Given the description of an element on the screen output the (x, y) to click on. 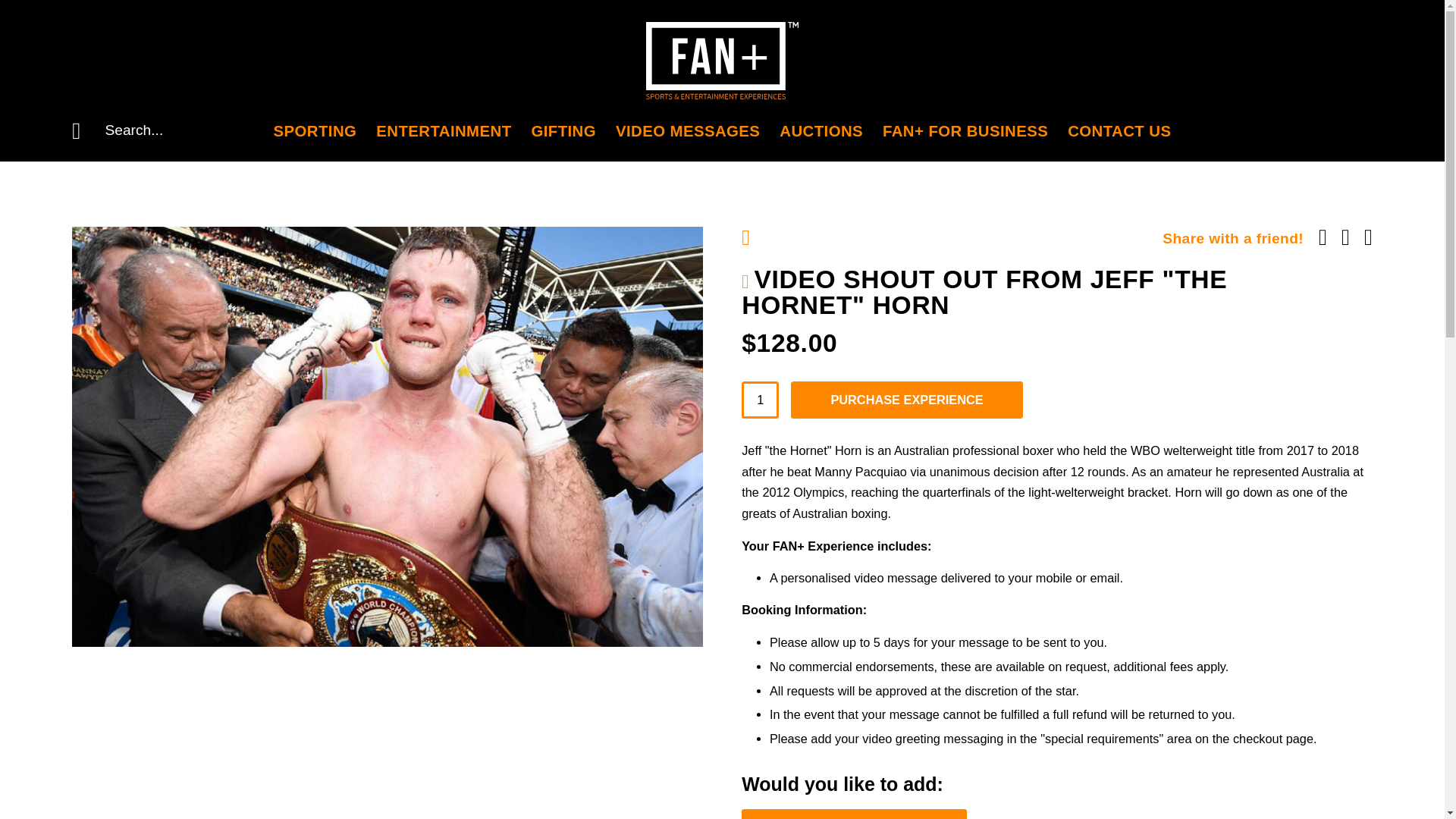
ENTERTAINMENT (443, 130)
1 (759, 399)
PURCHASE EXPERIENCE (906, 399)
VIDEO MESSAGES (687, 130)
CONTACT US (1118, 130)
AUCTIONS (820, 130)
GIFTING (563, 130)
SPORTING (314, 130)
